Given the description of an element on the screen output the (x, y) to click on. 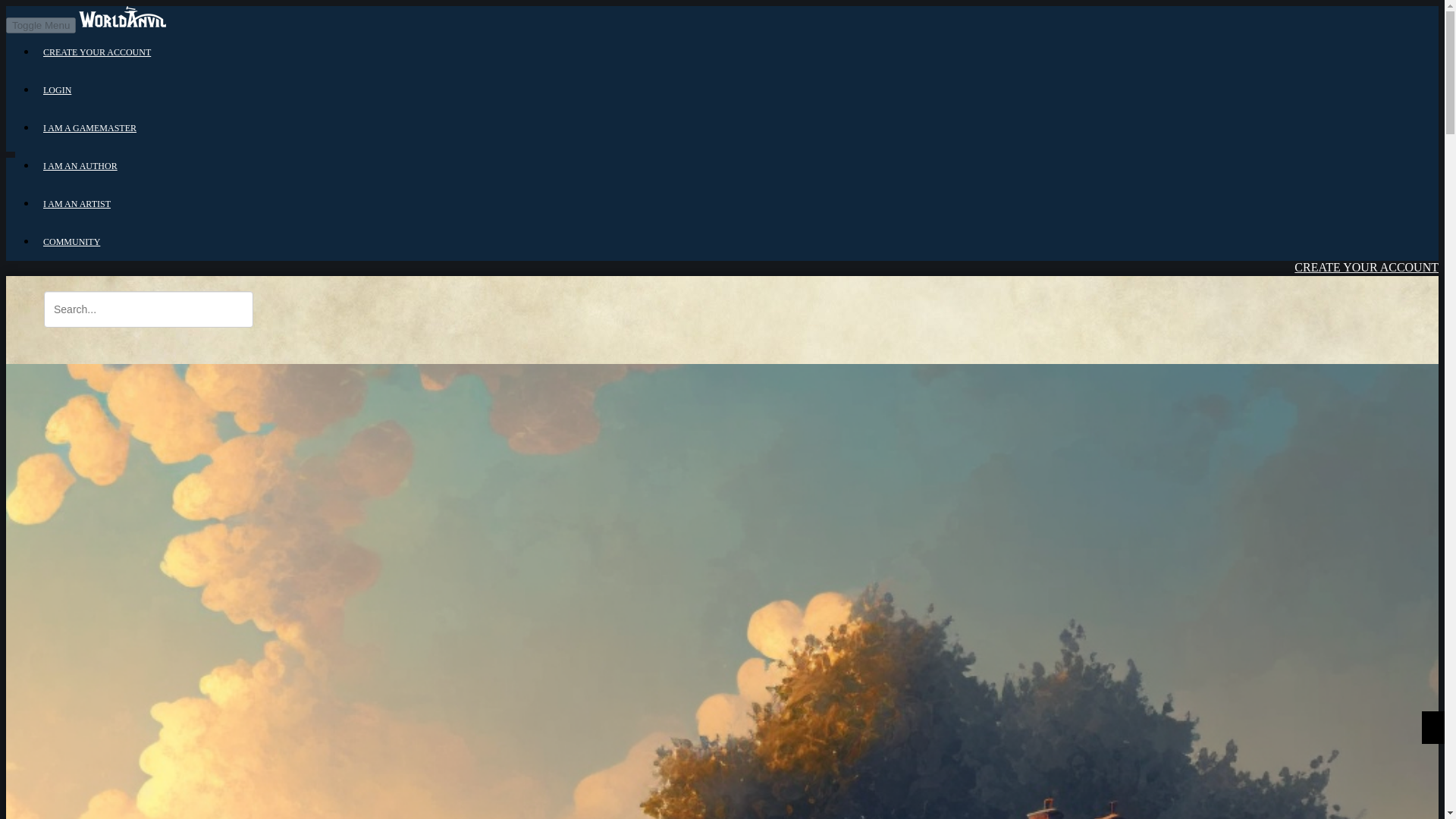
COMMUNITY (71, 241)
I AM AN ARTIST (76, 204)
LOGIN (1315, 330)
Toggle Menu (40, 25)
CREATE YOUR ACCOUNT (1354, 293)
I AM A GAMEMASTER (89, 127)
LOGIN (1313, 356)
CREATE YOUR ACCOUNT (96, 51)
I AM AN AUTHOR (79, 165)
LOGIN (57, 90)
